Given the description of an element on the screen output the (x, y) to click on. 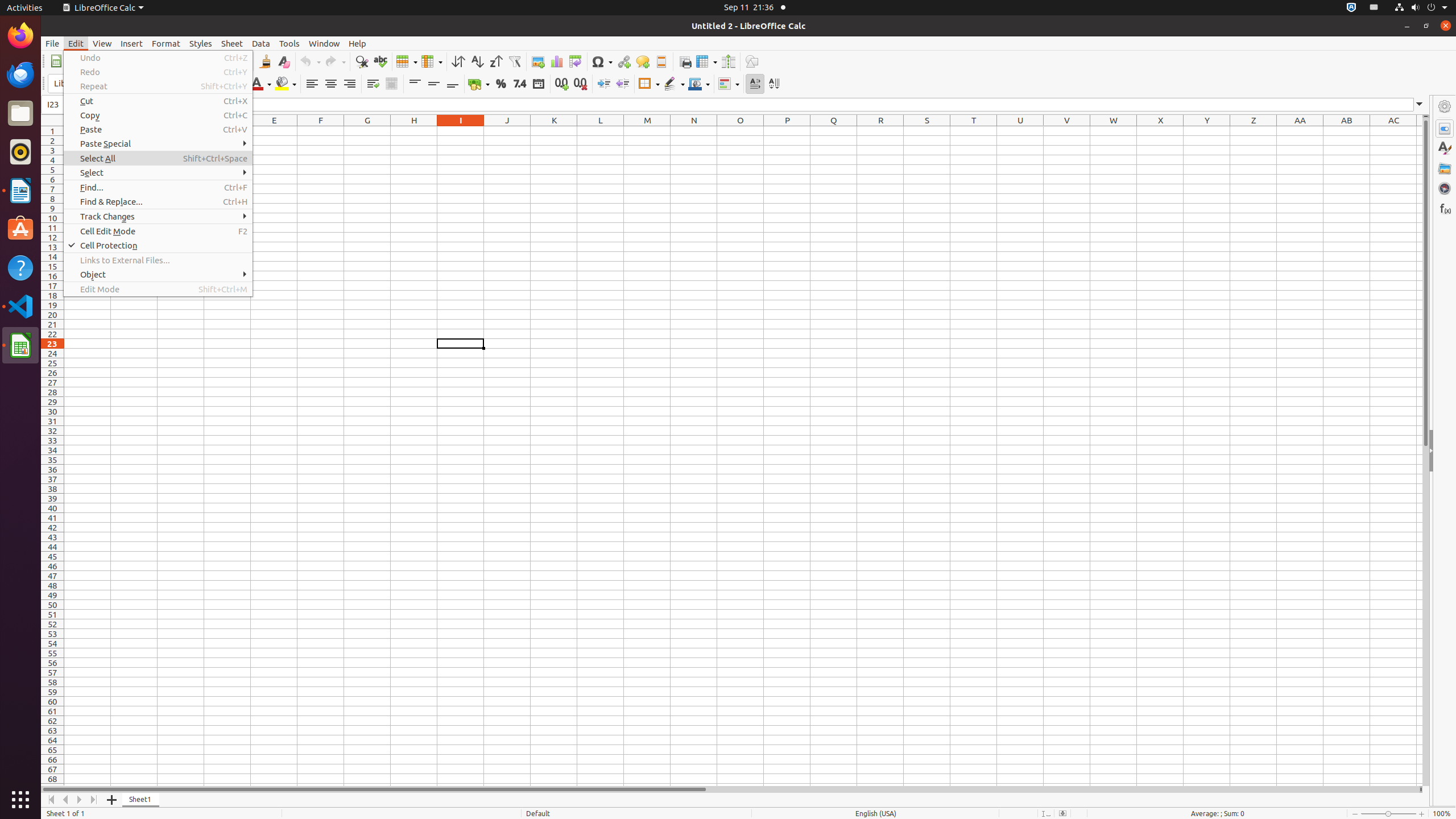
V1 Element type: table-cell (1066, 130)
Undo Element type: push-button (309, 61)
Paste Element type: menu-item (157, 129)
Align Center Element type: push-button (330, 83)
